Given the description of an element on the screen output the (x, y) to click on. 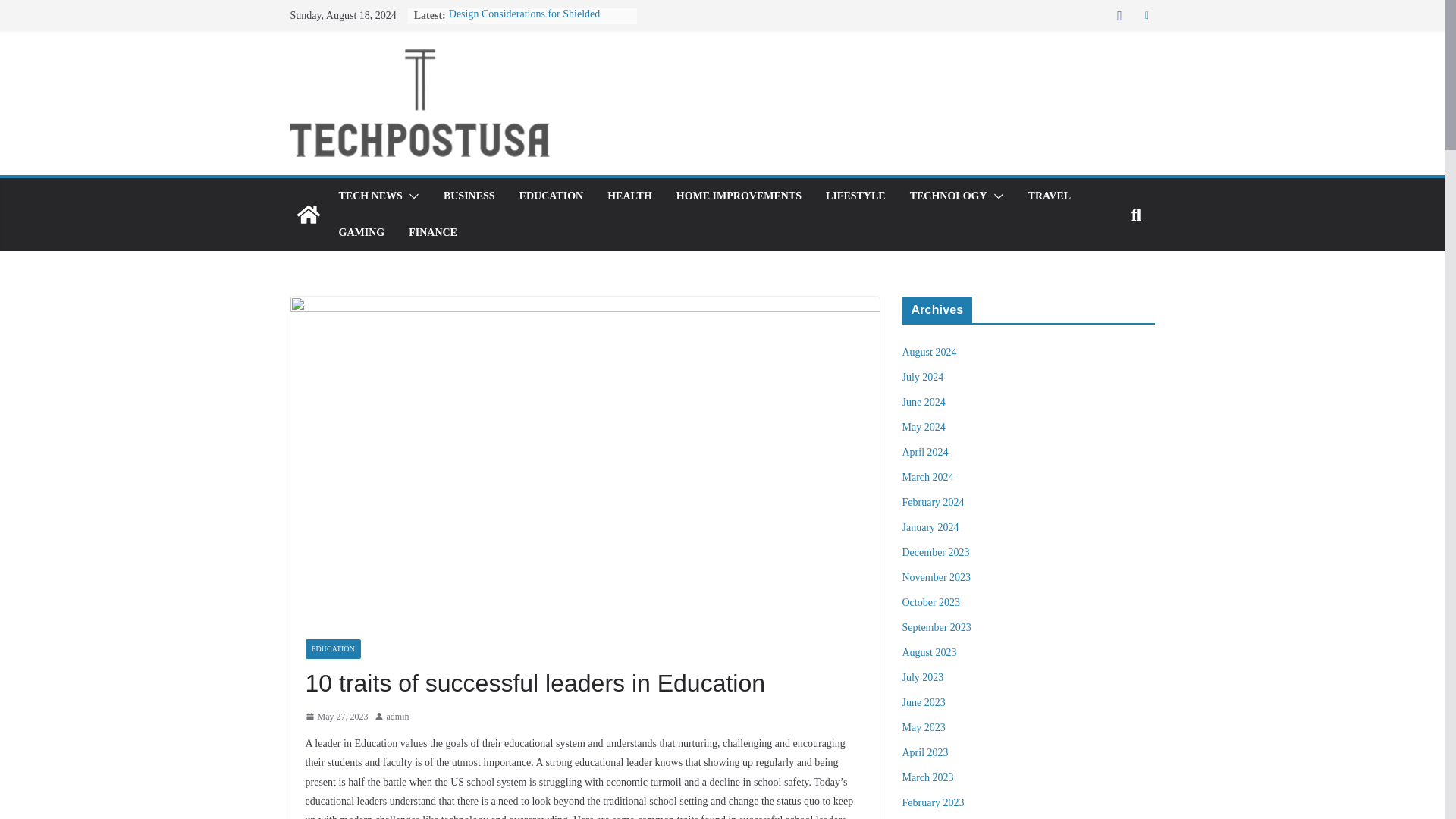
11:18 AM (336, 717)
Tech Post Usa (307, 214)
GAMING (360, 232)
FINANCE (433, 232)
admin (398, 717)
EDUCATION (551, 196)
TECHNOLOGY (948, 196)
TRAVEL (1049, 196)
May 27, 2023 (336, 717)
